Given the description of an element on the screen output the (x, y) to click on. 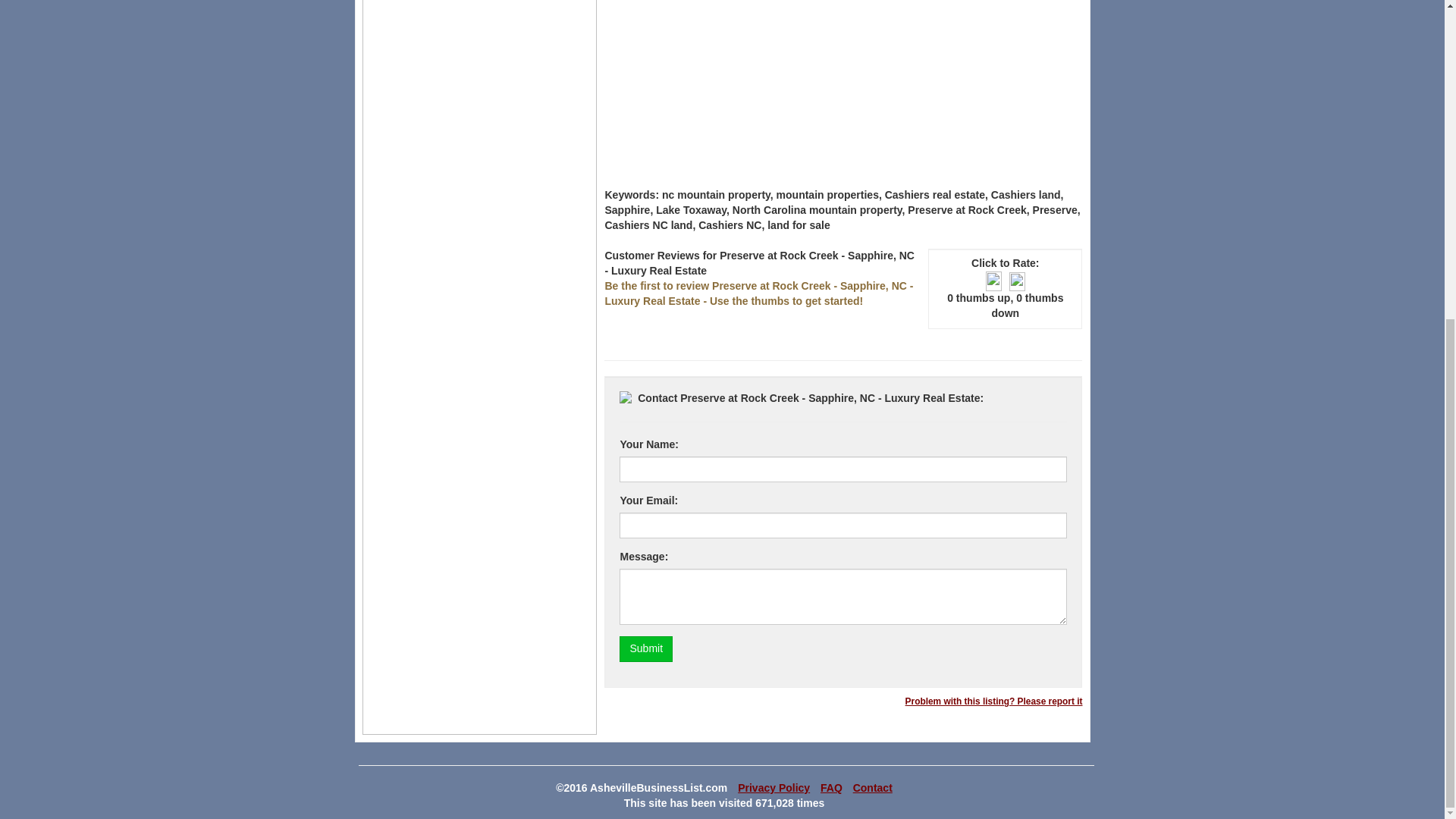
Report as Inappropriate or Incorrect (994, 701)
Problem with this listing? Please report it (994, 701)
Advertisement (842, 79)
Submit (646, 648)
FAQ (832, 787)
Contact (872, 787)
Privacy Policy (773, 787)
